Given the description of an element on the screen output the (x, y) to click on. 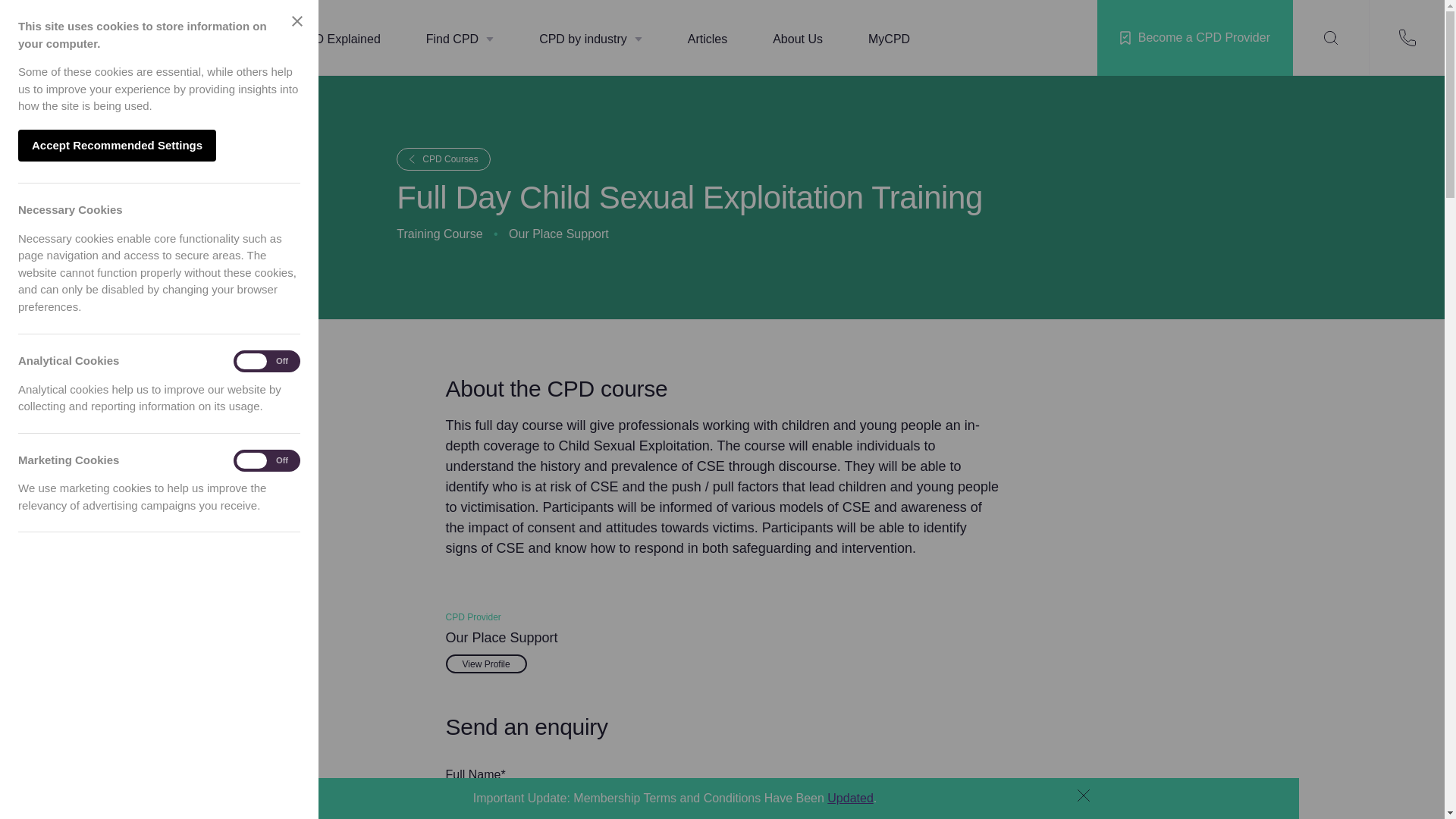
About Us (797, 39)
CPD by industry (590, 39)
CPD Courses (442, 159)
Find CPD (459, 39)
CPD Explained (339, 39)
Become a CPD Provider (1194, 38)
MyCPD (889, 39)
View Profile (486, 663)
Articles (707, 39)
